Given the description of an element on the screen output the (x, y) to click on. 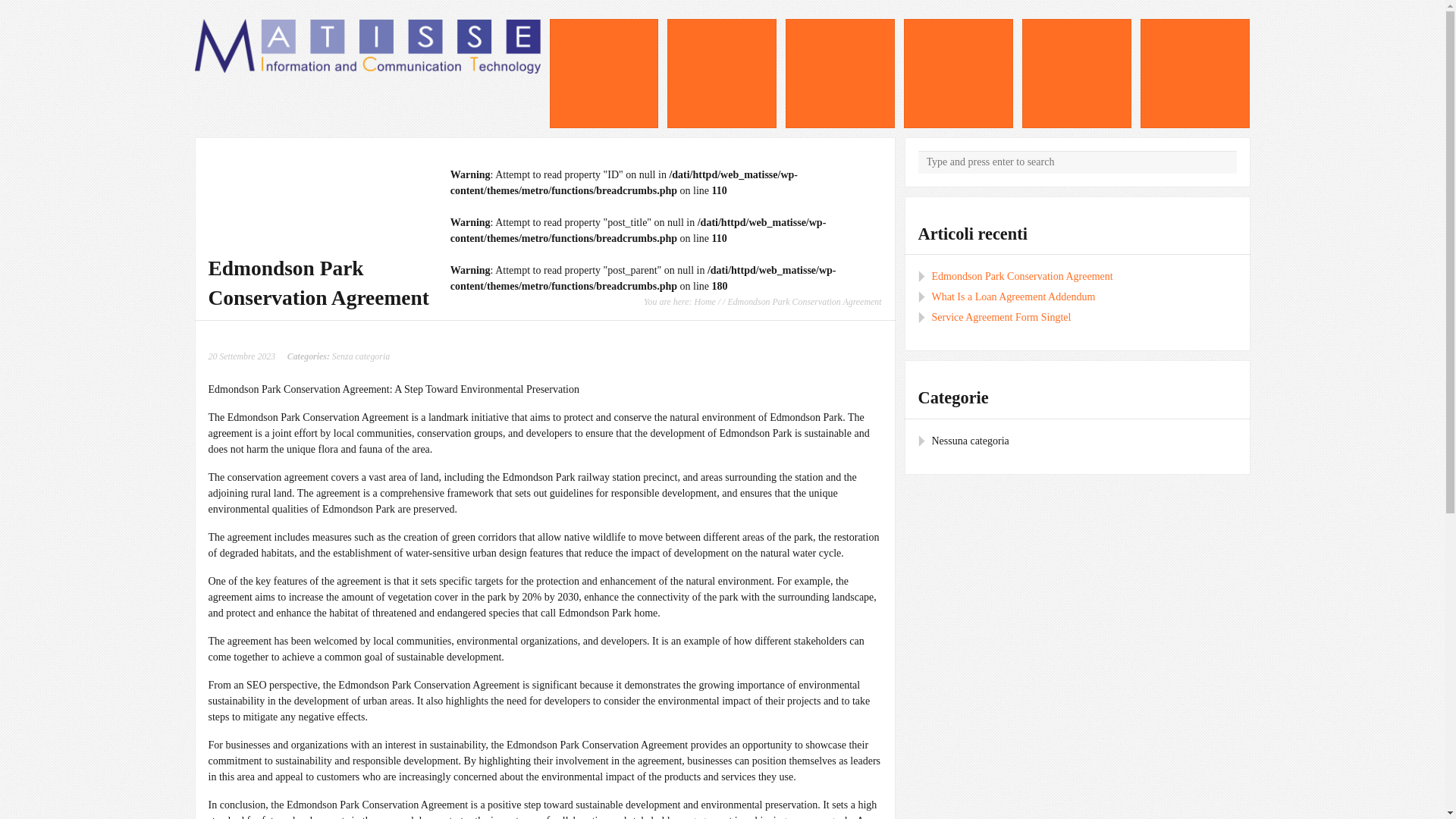
Home (704, 301)
What Is a Loan Agreement Addendum (1012, 296)
Service Agreement Form Singtel (1000, 317)
Edmondson Park Conservation Agreement (1021, 276)
